Given the description of an element on the screen output the (x, y) to click on. 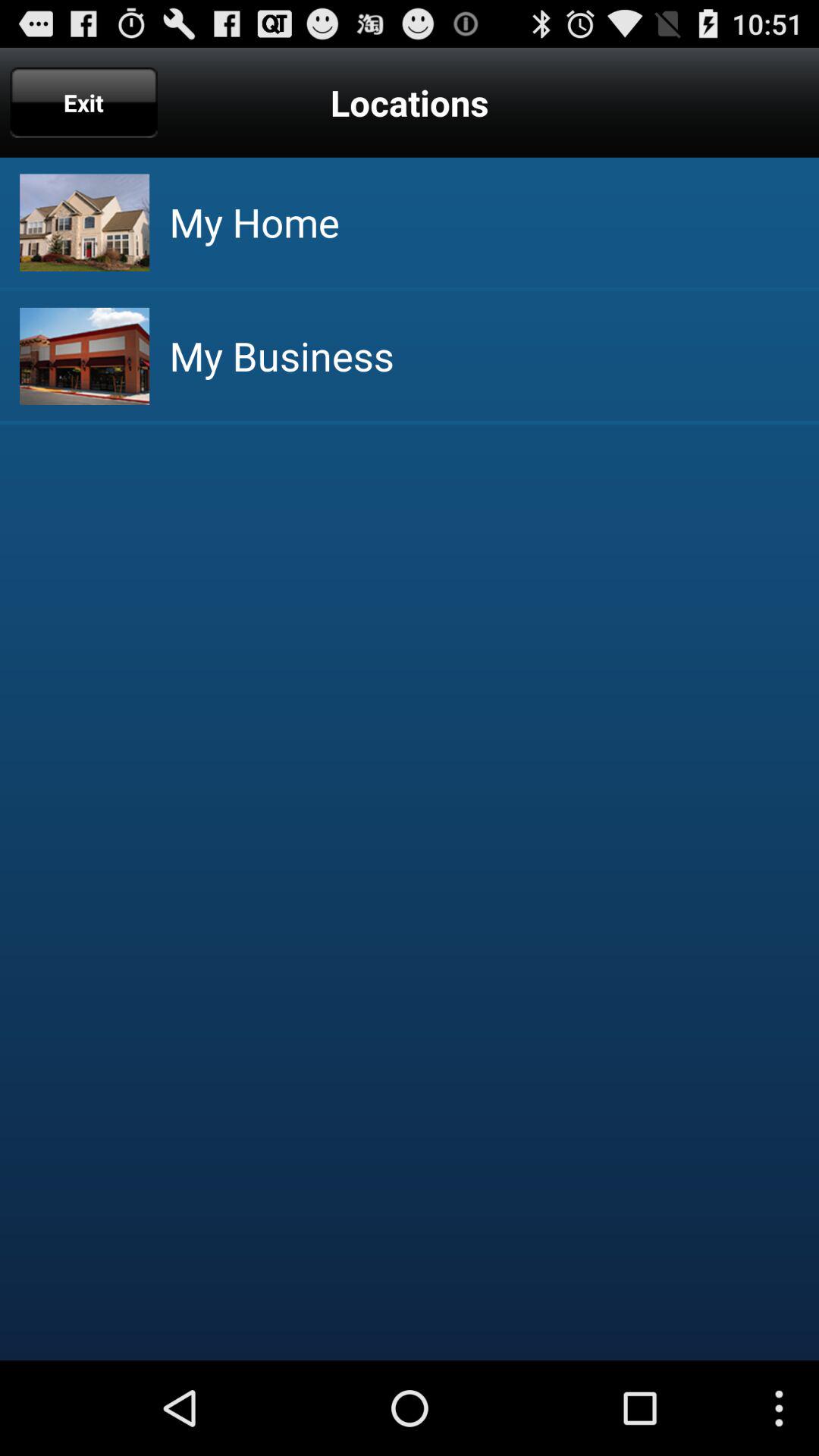
choose the app next to the locations app (83, 102)
